Given the description of an element on the screen output the (x, y) to click on. 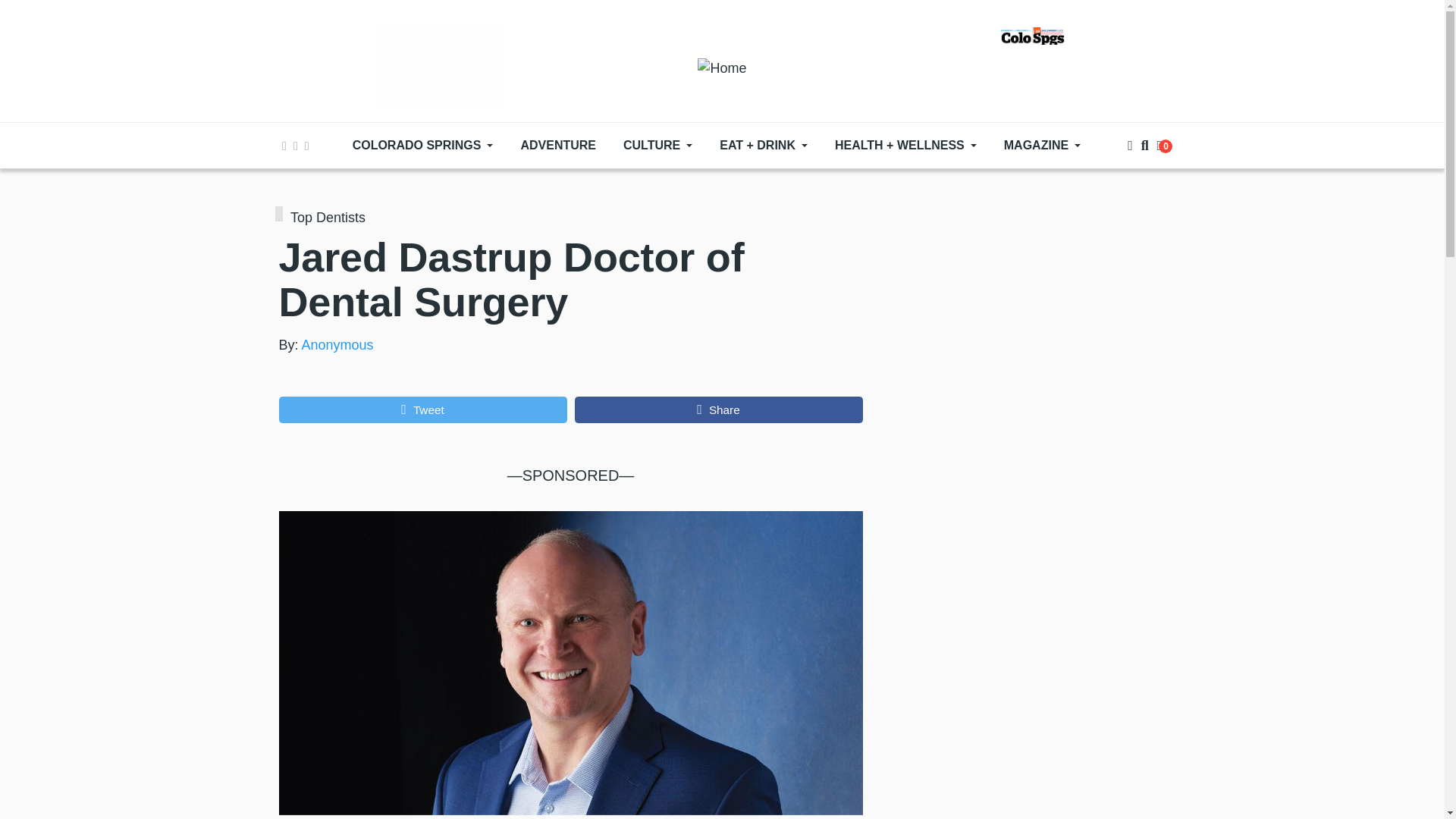
COLORADO SPRINGS (422, 145)
Go (1144, 189)
MAGAZINE (1042, 145)
ADVENTURE (558, 145)
CULTURE (658, 145)
